Given the description of an element on the screen output the (x, y) to click on. 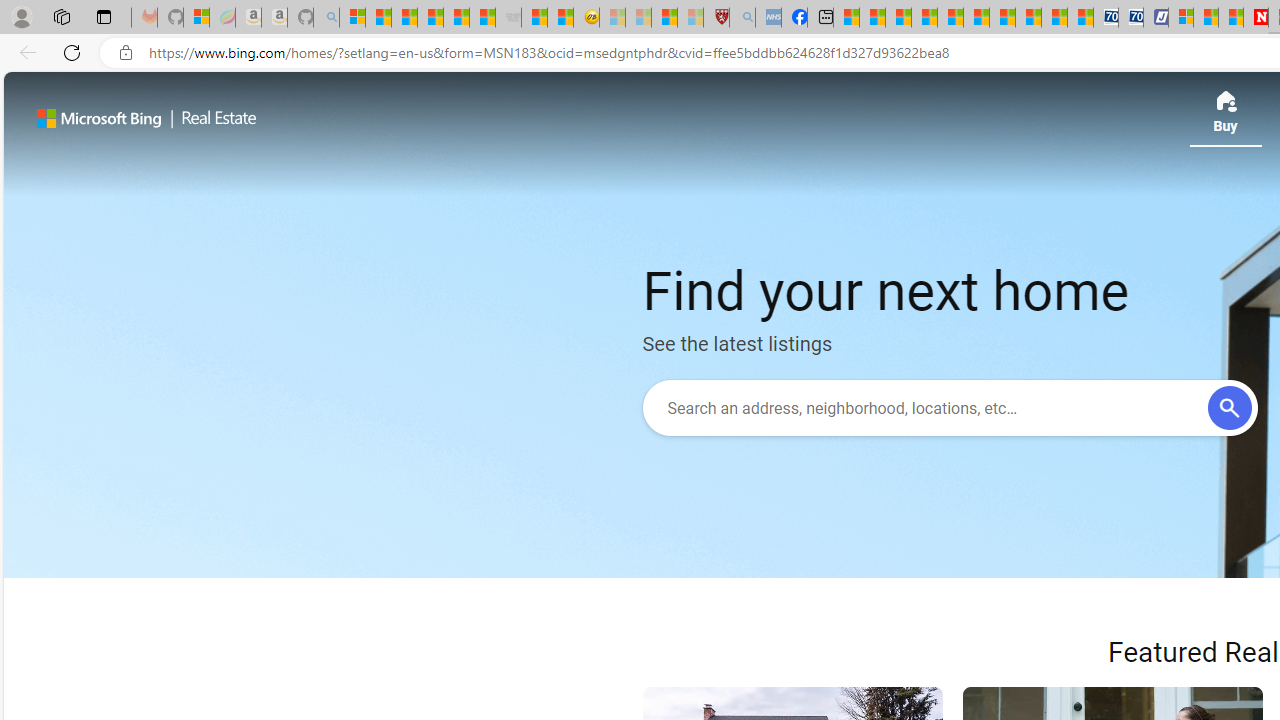
Climate Damage Becomes Too Severe To Reverse (923, 17)
Cheap Hotels - Save70.com (1130, 17)
Combat Siege - Sleeping (507, 17)
World - MSN (898, 17)
